Given the description of an element on the screen output the (x, y) to click on. 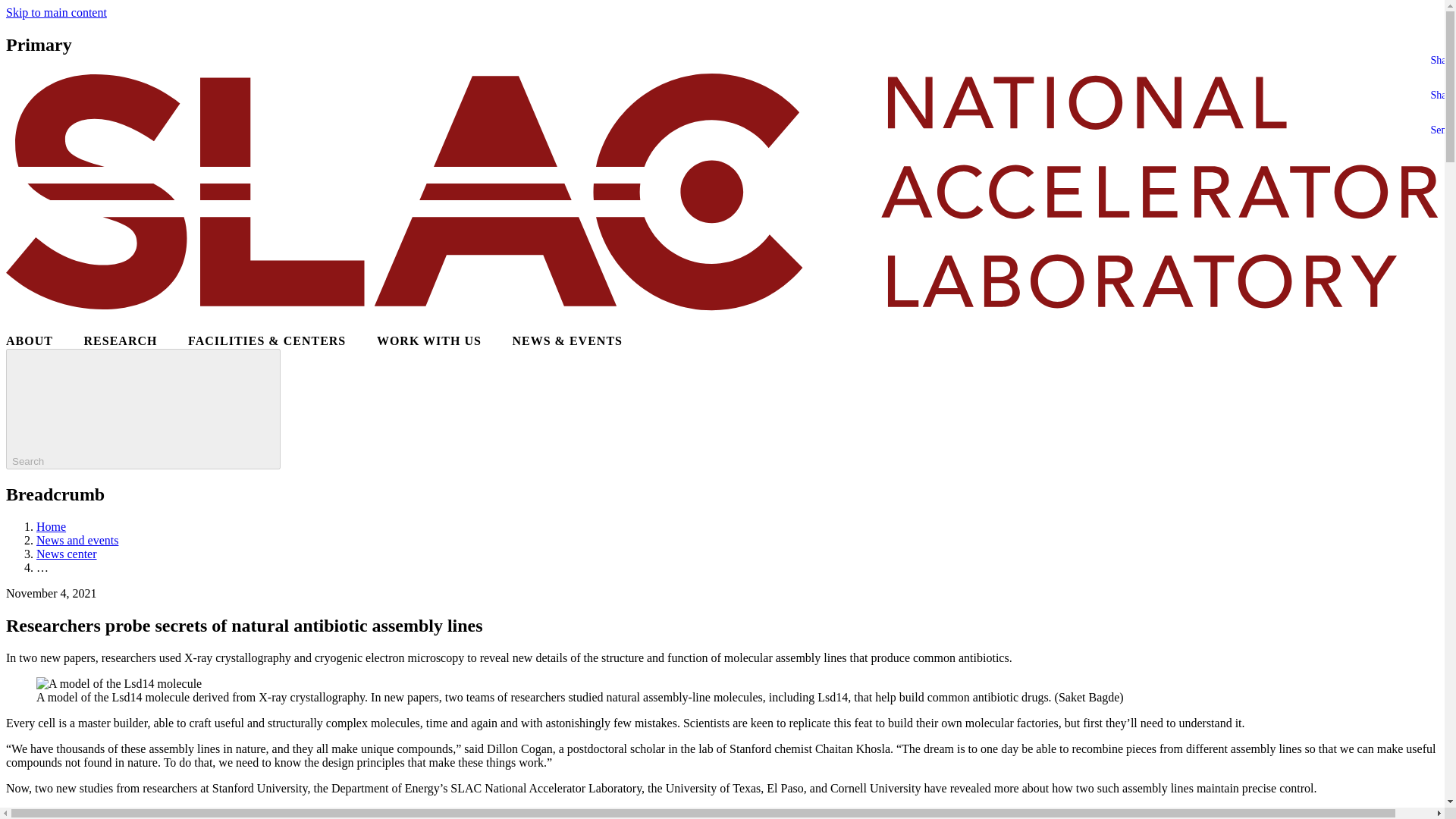
News and events (76, 540)
Search (143, 408)
RESEARCH (120, 341)
ABOUT (28, 341)
Home (50, 526)
Skip to main content (55, 11)
News center (66, 553)
WORK WITH US (429, 341)
